Given the description of an element on the screen output the (x, y) to click on. 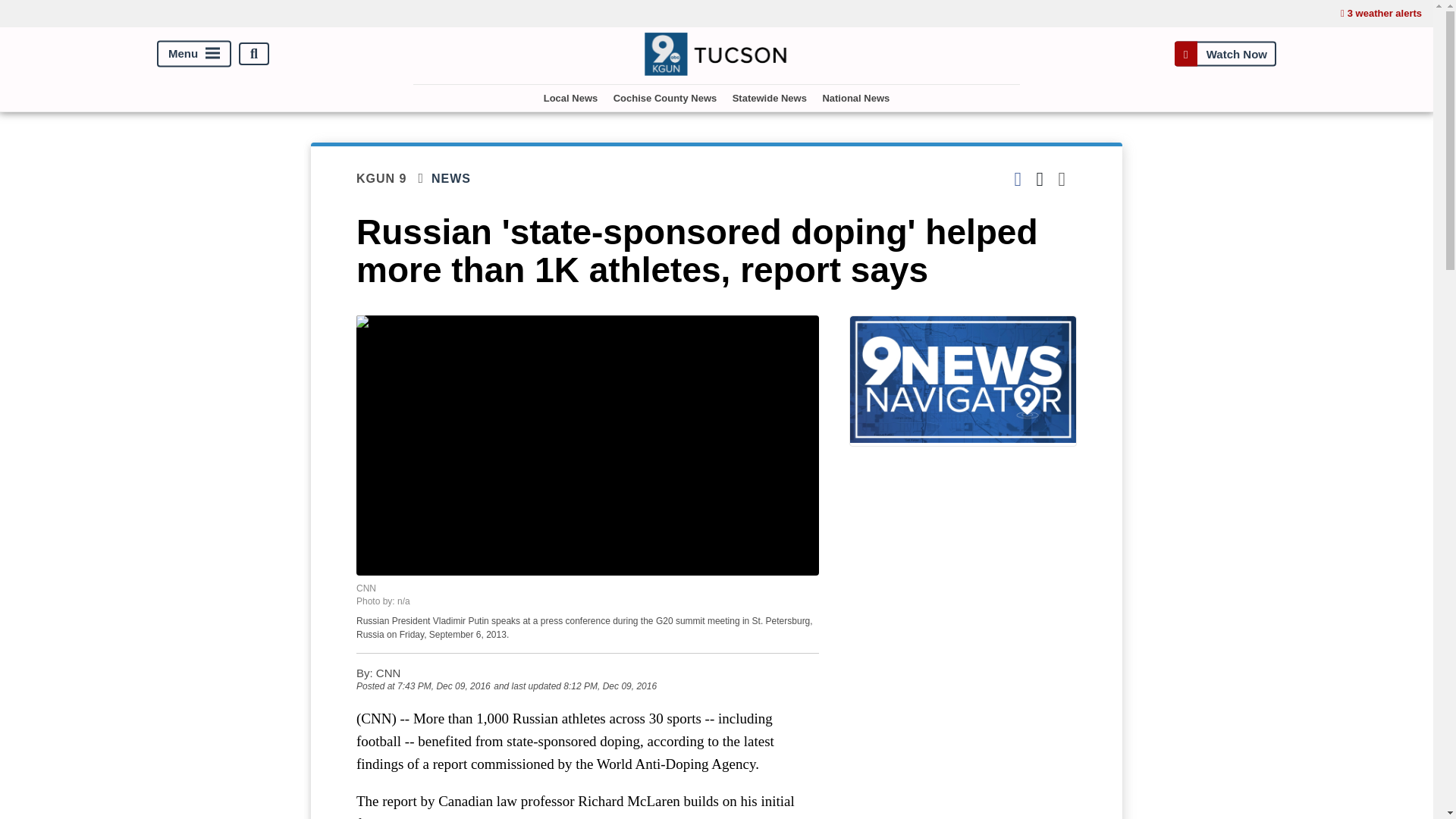
Menu (194, 53)
Watch Now (1224, 53)
